Given the description of an element on the screen output the (x, y) to click on. 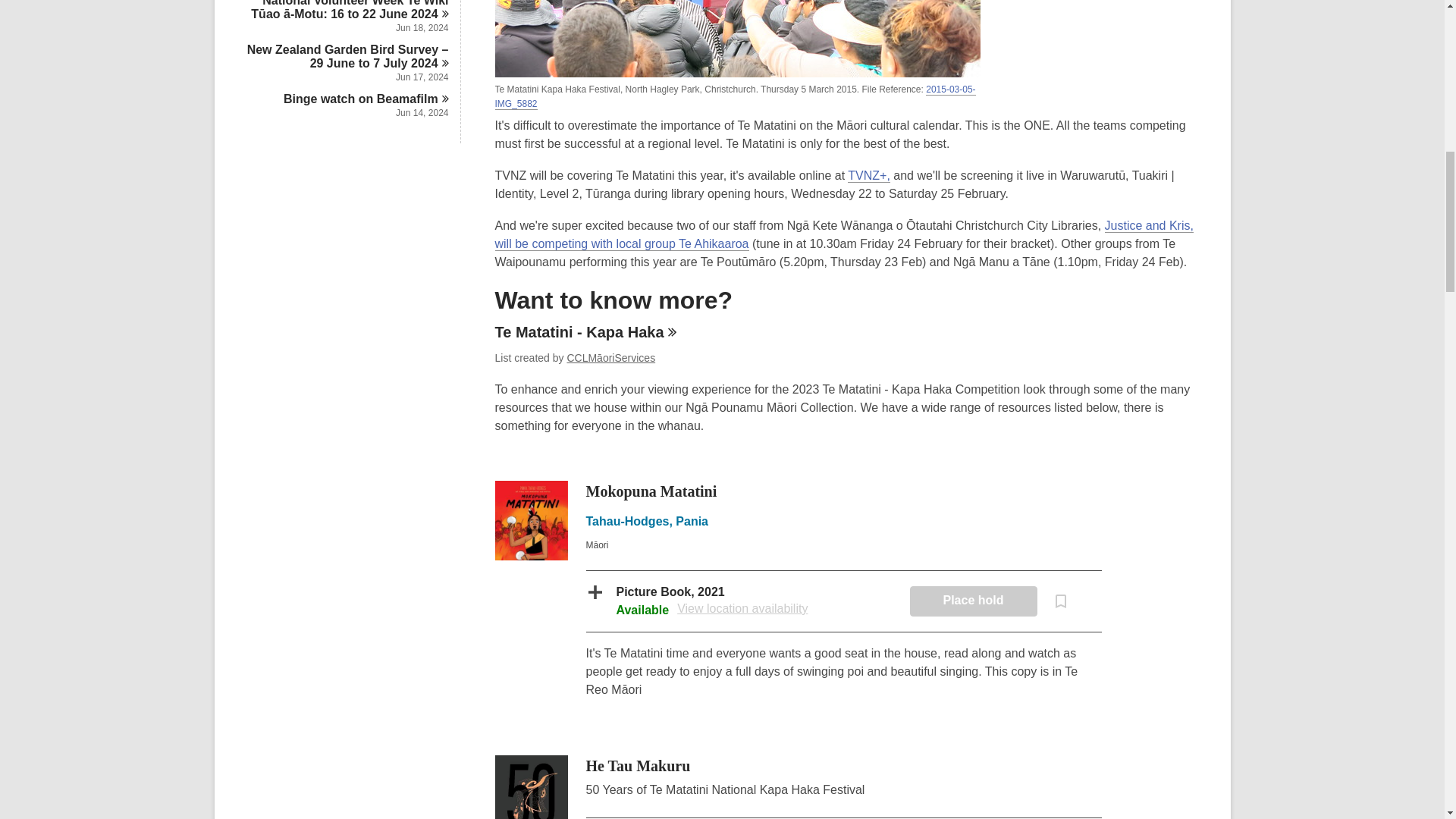
Te Matatini Kapa Haka Festival (737, 72)
